Given the description of an element on the screen output the (x, y) to click on. 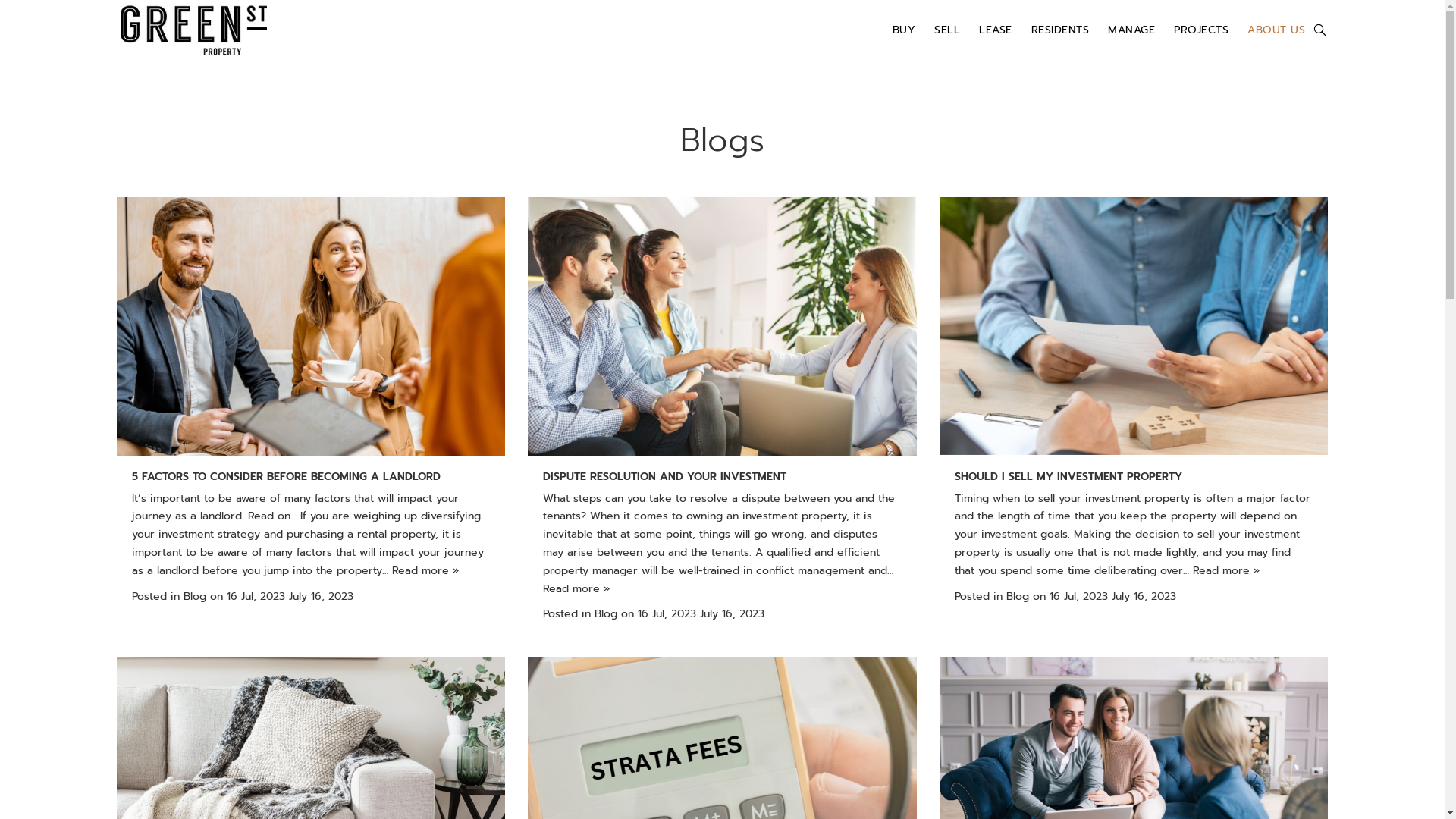
16 Jul, 2023 July 16, 2023 Element type: text (700, 613)
SELL Element type: text (946, 30)
16 Jul, 2023 July 16, 2023 Element type: text (289, 596)
Blog Element type: text (1017, 596)
Blog Element type: text (194, 596)
DISPUTE RESOLUTION AND YOUR INVESTMENT Element type: text (664, 476)
16 Jul, 2023 July 16, 2023 Element type: text (1112, 596)
Blog Element type: text (605, 613)
SHOULD I SELL MY INVESTMENT PROPERTY Element type: text (1068, 476)
RESIDENTS Element type: text (1060, 30)
BUY Element type: text (903, 30)
ABOUT US Element type: text (1275, 30)
5 FACTORS TO CONSIDER BEFORE BECOMING A LANDLORD Element type: text (285, 476)
MANAGE Element type: text (1131, 30)
PROJECTS Element type: text (1201, 30)
LEASE Element type: text (995, 30)
